Given the description of an element on the screen output the (x, y) to click on. 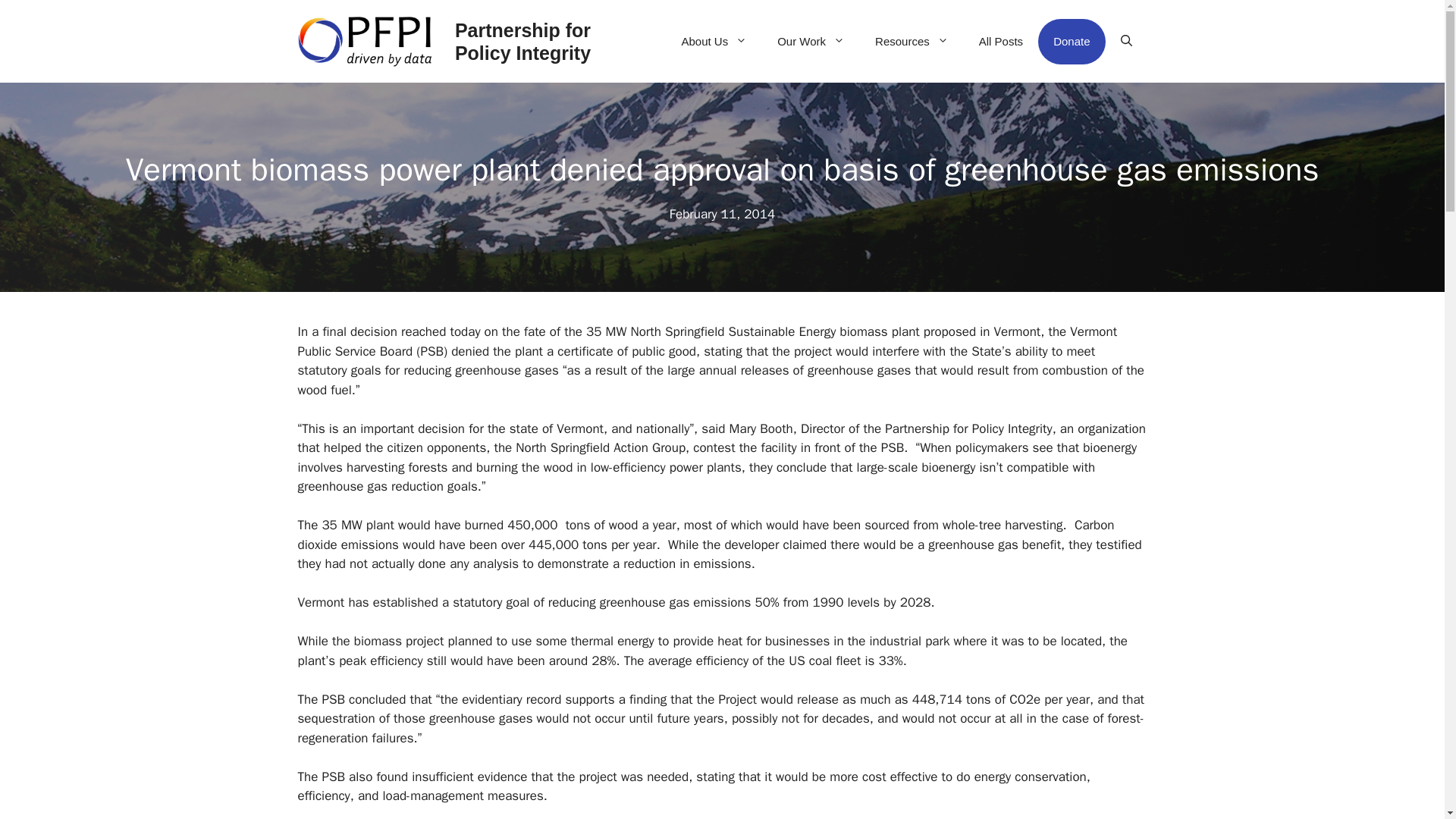
Resources (911, 41)
All Posts (1000, 41)
Partnership for Policy Integrity (522, 41)
Donate (1071, 41)
About Us (713, 41)
Our Work (810, 41)
